Given the description of an element on the screen output the (x, y) to click on. 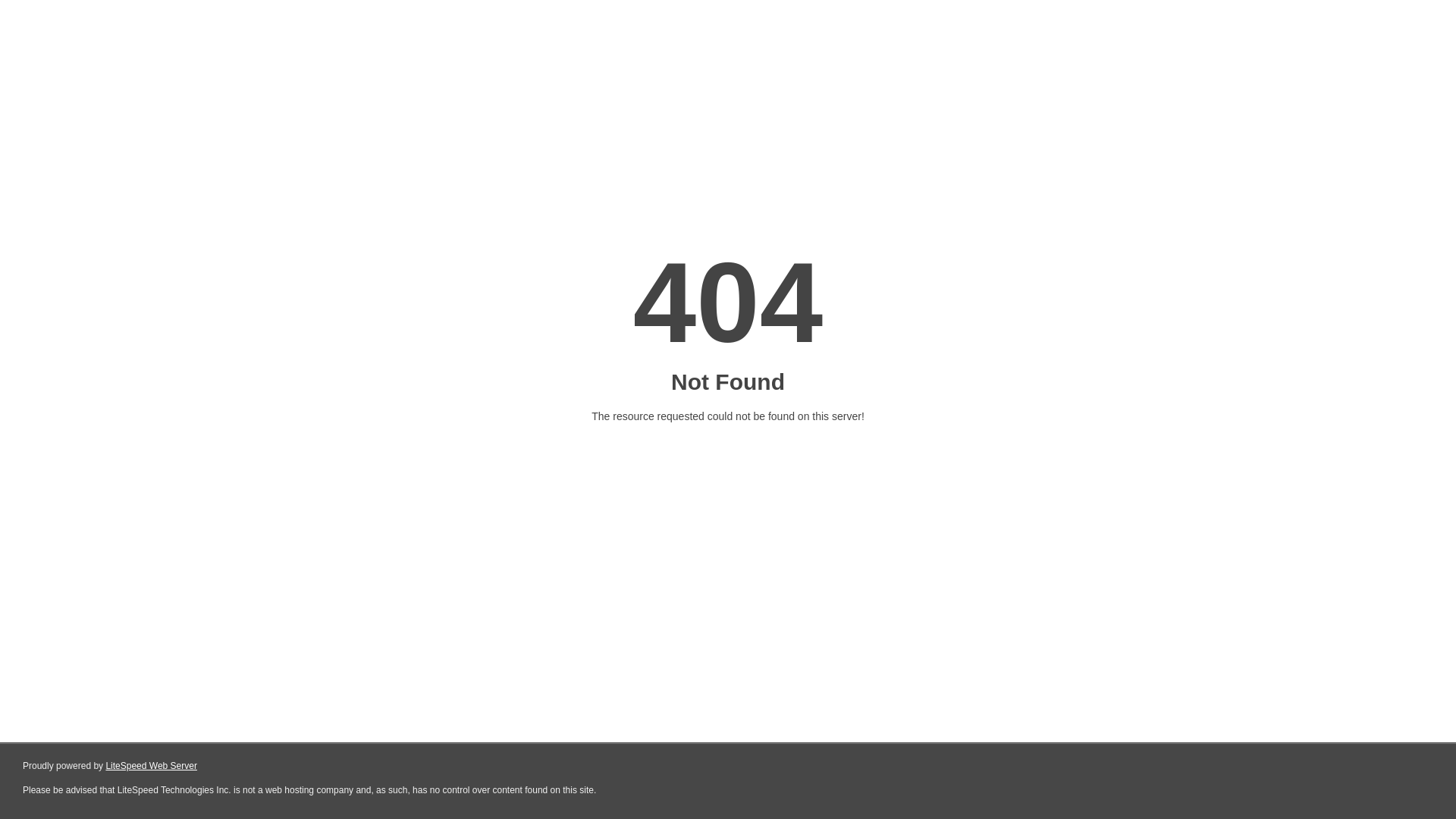
LiteSpeed Web Server Element type: text (151, 765)
